Given the description of an element on the screen output the (x, y) to click on. 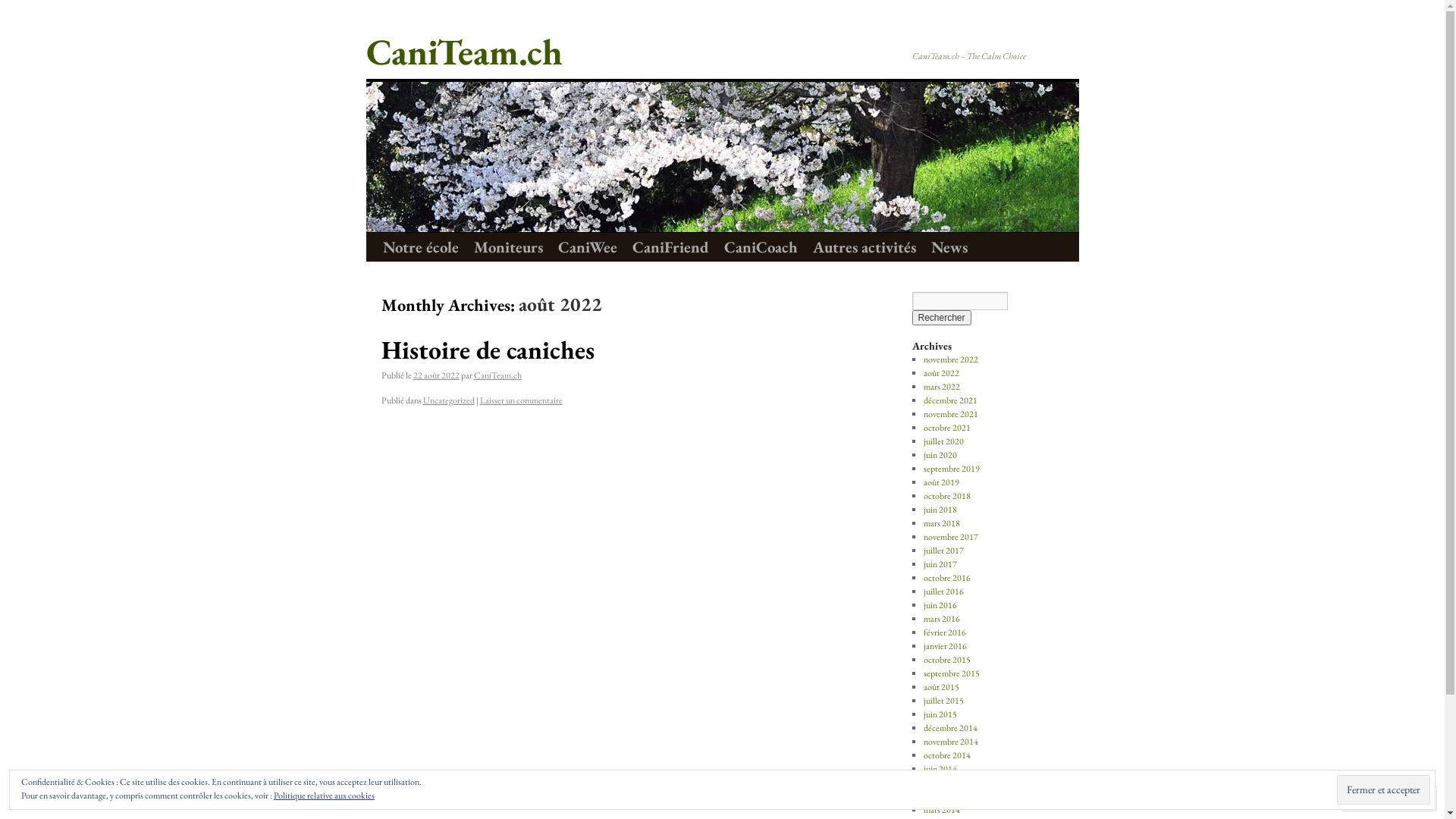
octobre 2018 Element type: text (946, 495)
mars 2018 Element type: text (941, 523)
CaniWee Element type: text (587, 246)
juin 2020 Element type: text (940, 454)
novembre 2021 Element type: text (950, 413)
octobre 2021 Element type: text (946, 427)
mars 2016 Element type: text (941, 618)
mai 2014 Element type: text (939, 782)
octobre 2014 Element type: text (946, 755)
juillet 2017 Element type: text (943, 550)
Fermer et accepter Element type: text (1383, 789)
juin 2016 Element type: text (940, 605)
septembre 2015 Element type: text (951, 673)
juillet 2015 Element type: text (943, 700)
Laisser un commentaire Element type: text (520, 400)
CaniTeam.ch Element type: text (496, 375)
News Element type: text (949, 246)
mars 2014 Element type: text (941, 809)
Suivre Element type: text (1375, 797)
juin 2018 Element type: text (940, 509)
Moniteurs Element type: text (507, 246)
Histoire de caniches Element type: text (486, 349)
mars 2022 Element type: text (941, 386)
CaniTeam.ch Element type: text (463, 51)
avril 2014 Element type: text (940, 796)
novembre 2014 Element type: text (950, 741)
Rechercher Element type: text (940, 317)
janvier 2016 Element type: text (944, 646)
juin 2015 Element type: text (940, 714)
CaniFriend Element type: text (670, 246)
novembre 2017 Element type: text (950, 536)
juin 2017 Element type: text (940, 564)
septembre 2019 Element type: text (951, 468)
octobre 2016 Element type: text (946, 577)
novembre 2022 Element type: text (950, 359)
Politique relative aux cookies Element type: text (323, 795)
juillet 2020 Element type: text (943, 441)
juillet 2016 Element type: text (943, 591)
Uncategorized Element type: text (448, 400)
octobre 2015 Element type: text (946, 659)
juin 2014 Element type: text (940, 768)
CaniCoach Element type: text (759, 246)
